Given the description of an element on the screen output the (x, y) to click on. 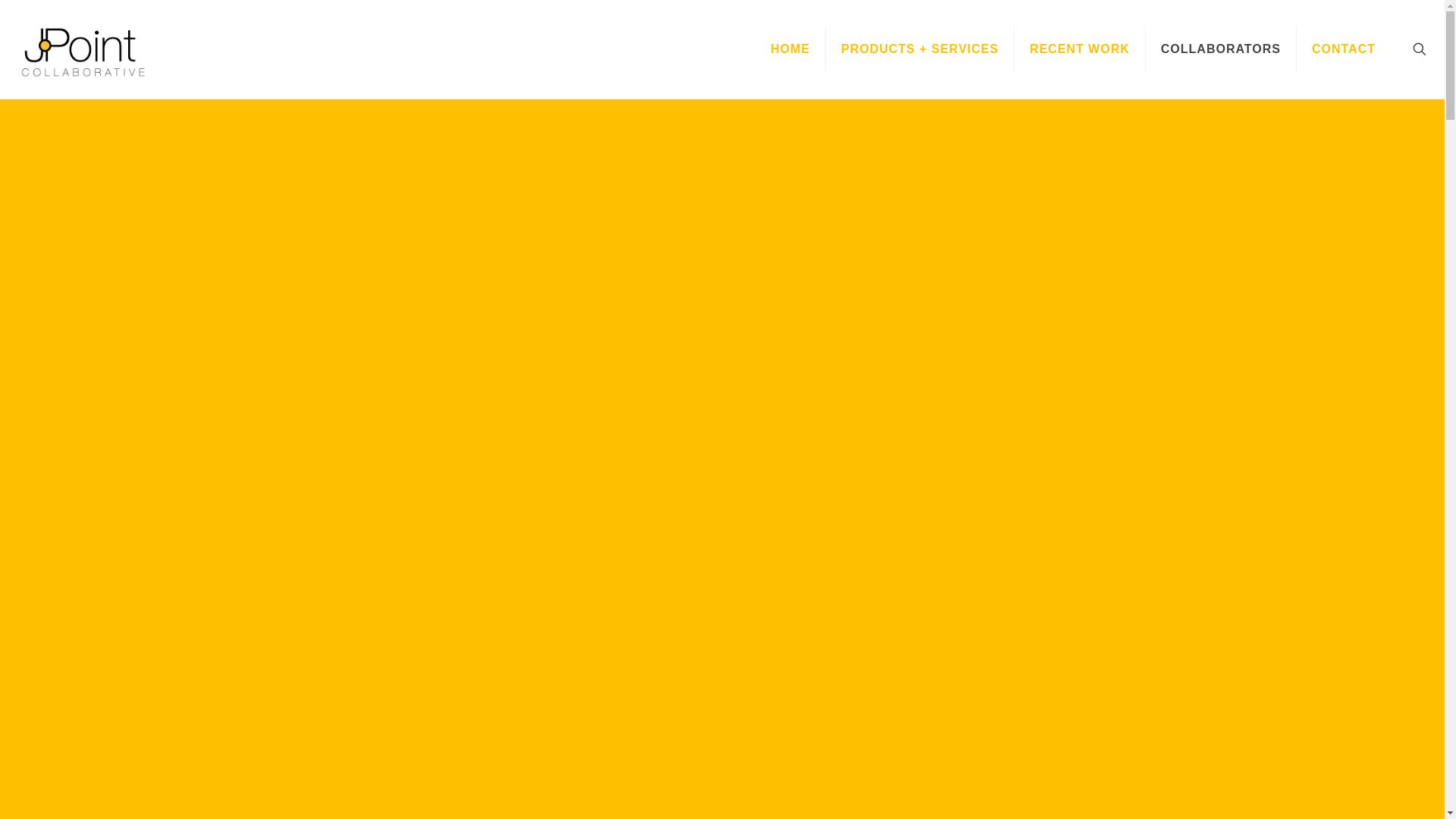
JPoint Collaborative (82, 49)
CONTACT (1343, 49)
RECENT WORK (1079, 49)
COLLABORATORS (1221, 49)
